Given the description of an element on the screen output the (x, y) to click on. 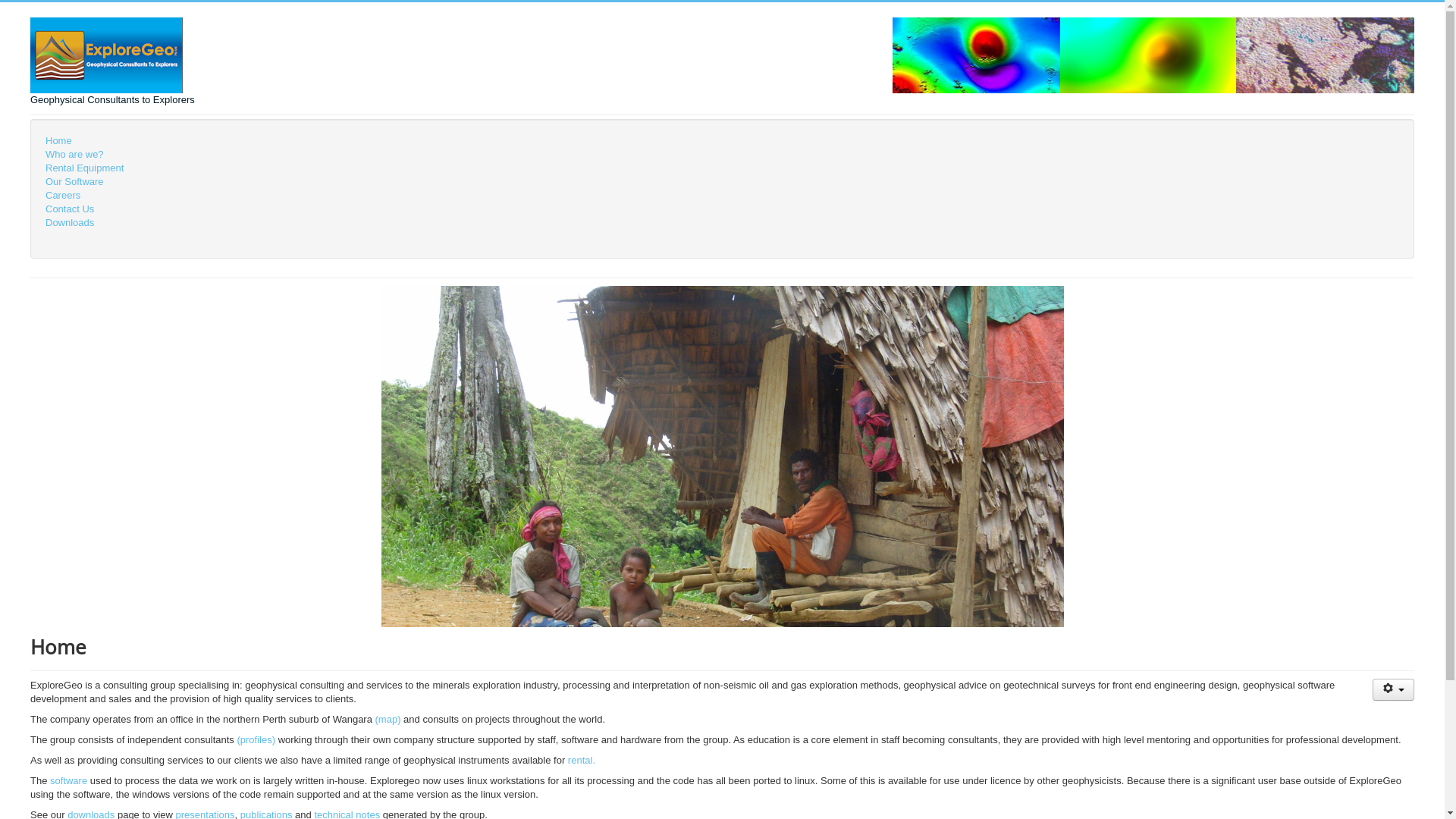
Geophysical Consultants to Explorers Element type: text (112, 61)
Our Software Element type: text (722, 181)
rental. Element type: text (581, 759)
(profiles) Element type: text (255, 739)
Home Element type: text (722, 140)
Careers Element type: text (722, 195)
Who are we? Element type: text (722, 154)
Downloads Element type: text (722, 222)
Rental Equipment Element type: text (722, 168)
Contact Us Element type: text (722, 209)
(map) Element type: text (388, 718)
software Element type: text (68, 780)
